Given the description of an element on the screen output the (x, y) to click on. 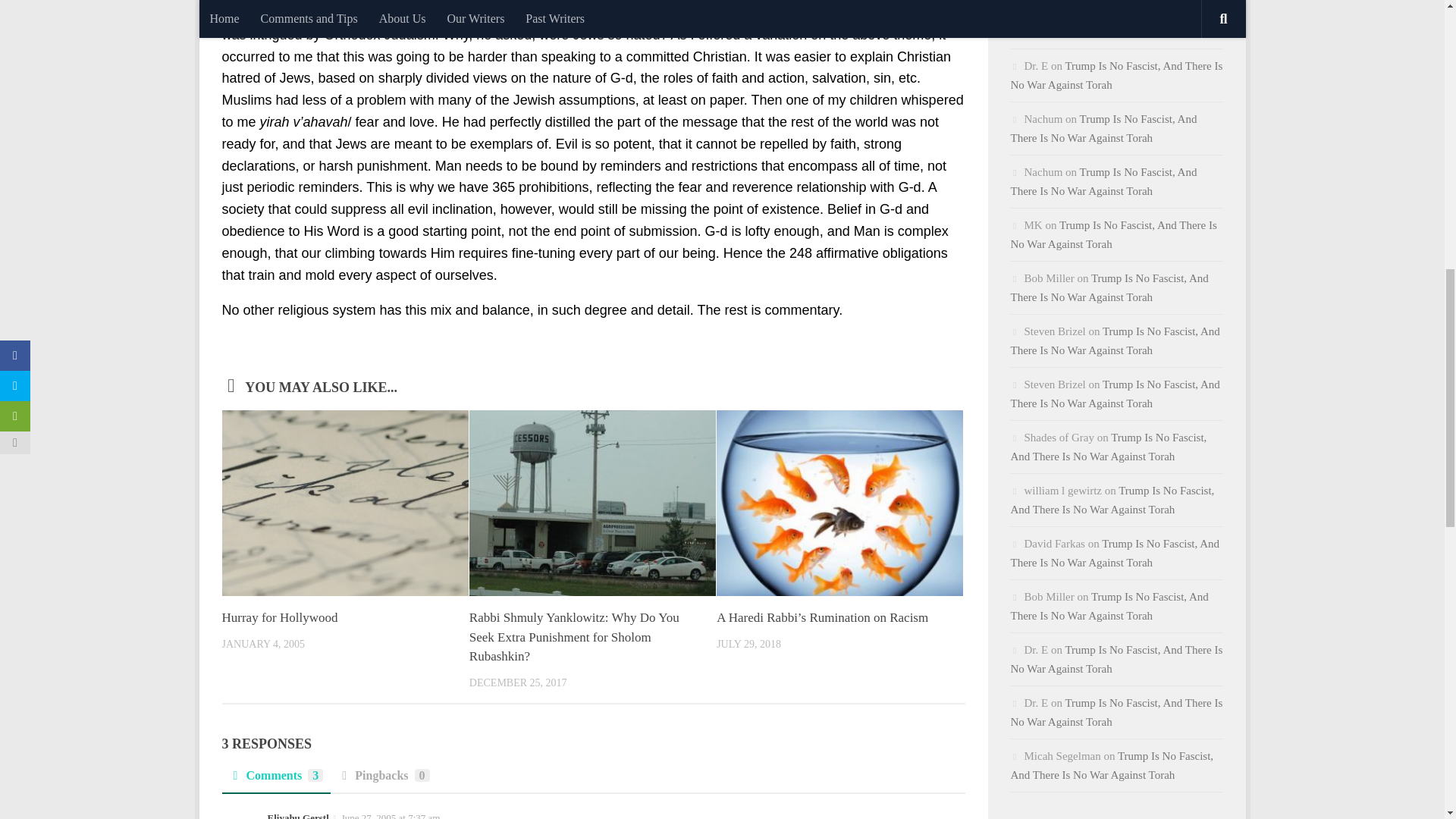
Comments3 (275, 779)
June 27, 2005 at 7:37 am (390, 815)
Pingbacks0 (383, 779)
Hurray for Hollywood (279, 617)
